Given the description of an element on the screen output the (x, y) to click on. 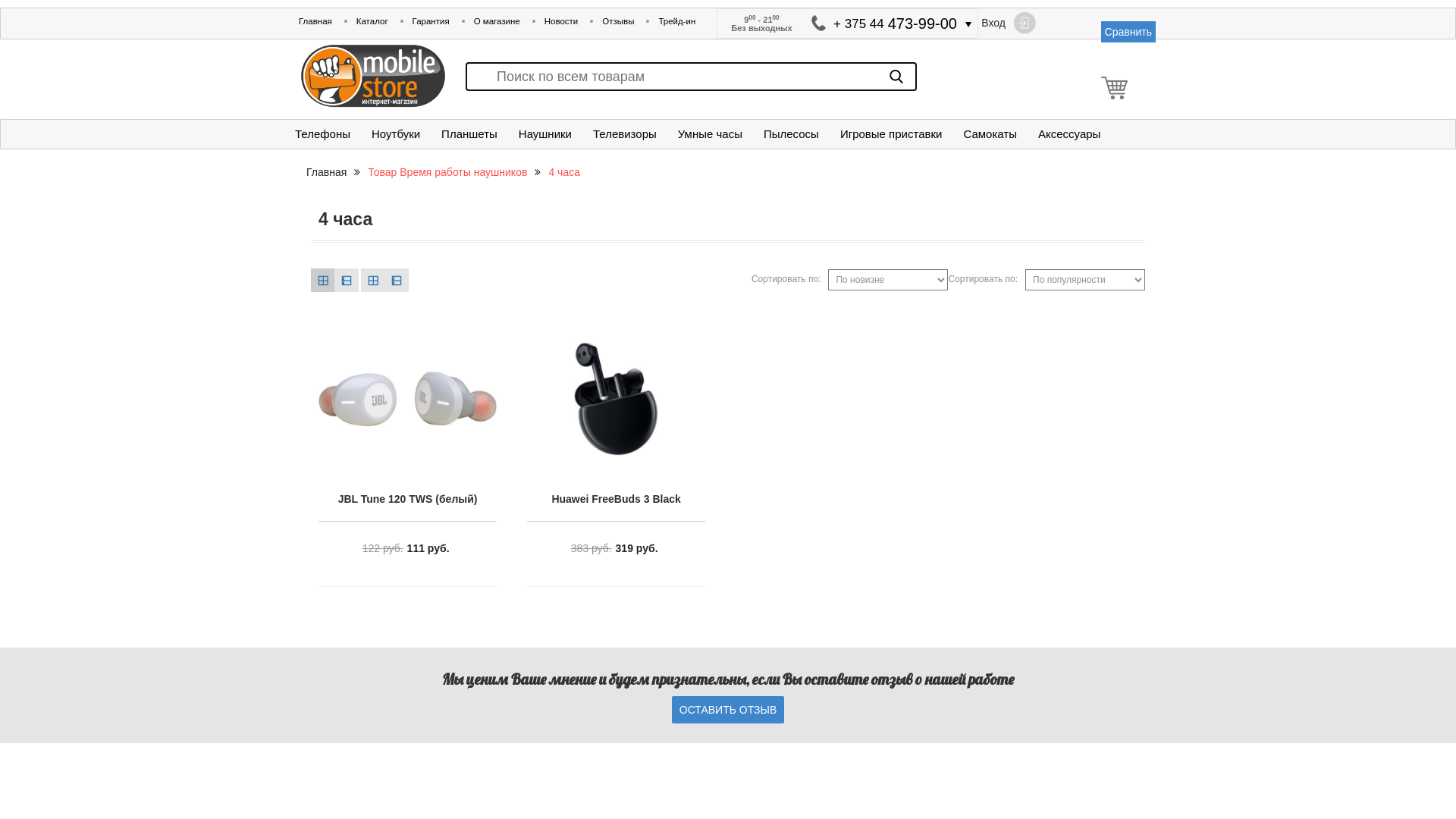
Huawei FreeBuds 3 Black Element type: hover (616, 398)
Grid view Element type: hover (322, 279)
List view Element type: hover (396, 279)
Grid view Element type: hover (372, 279)
List view Element type: hover (345, 279)
0 Element type: text (1121, 87)
jbl_tune_120_tws_white_1 Element type: hover (407, 398)
